Given the description of an element on the screen output the (x, y) to click on. 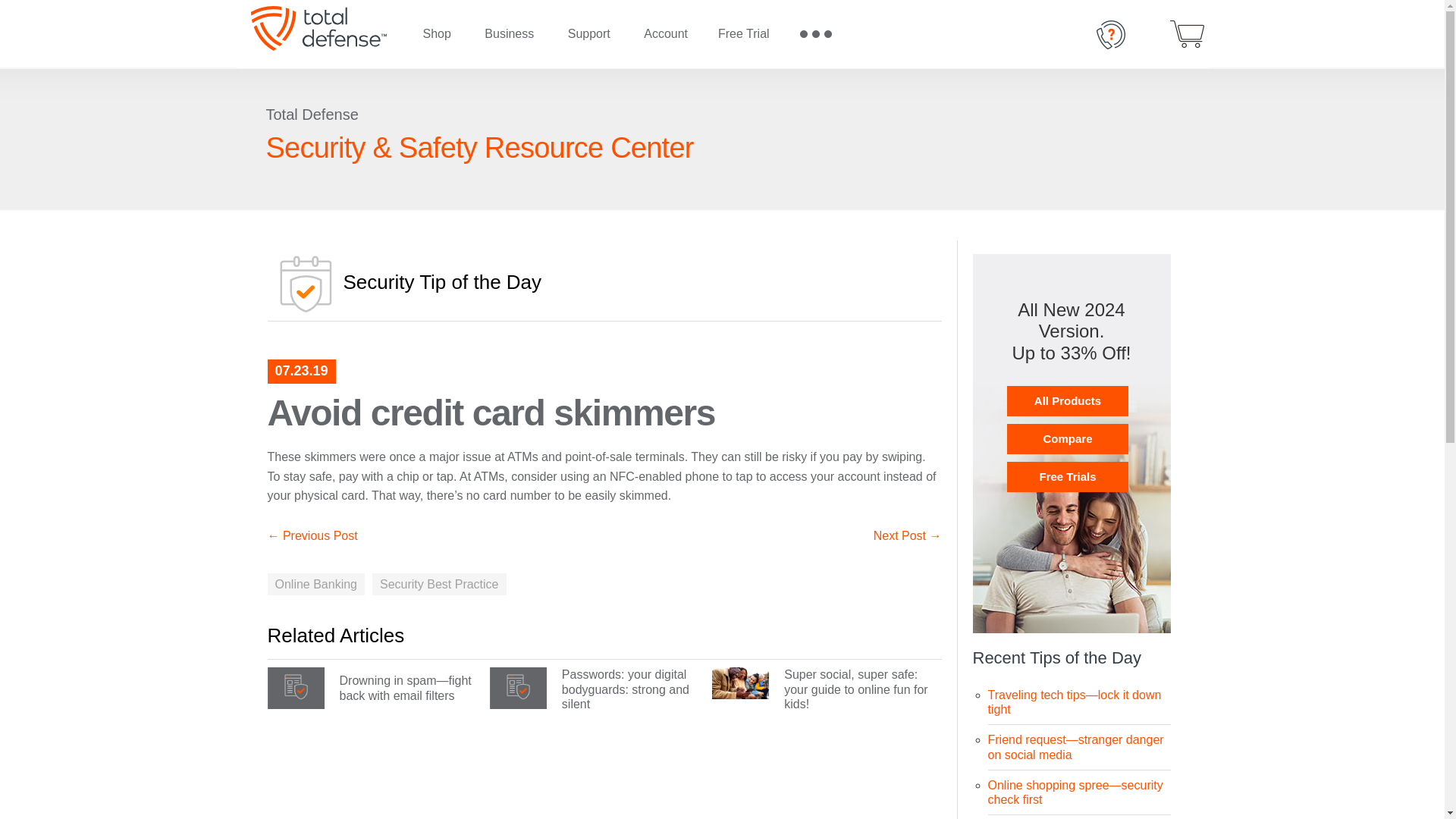
Free Trial (743, 34)
Support (589, 34)
Account (665, 34)
Business (508, 34)
